Given the description of an element on the screen output the (x, y) to click on. 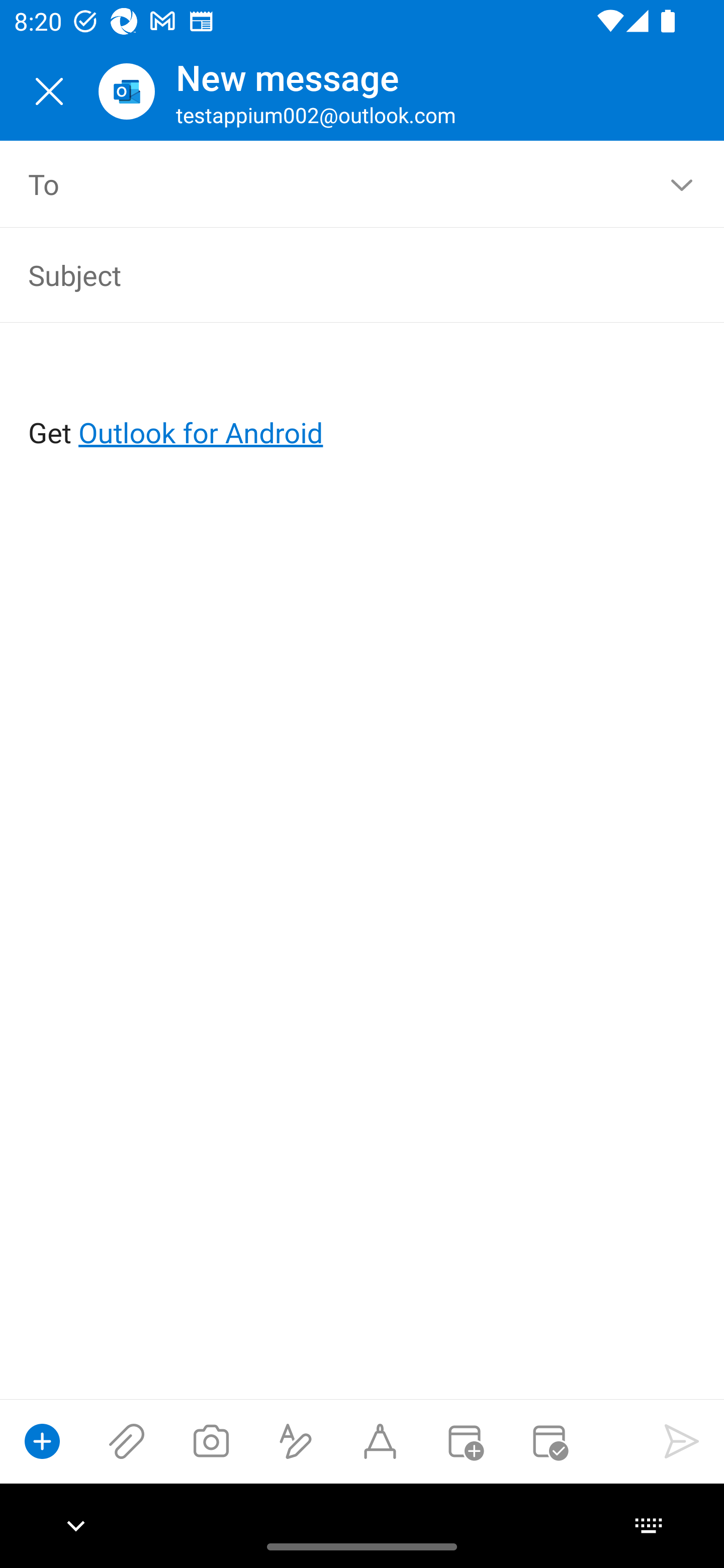
Close (49, 91)
Subject (333, 274)
Show compose options (42, 1440)
Attach files (126, 1440)
Take a photo (210, 1440)
Show formatting options (295, 1440)
Start Ink compose (380, 1440)
Convert to event (464, 1440)
Send availability (548, 1440)
Send (681, 1440)
